Given the description of an element on the screen output the (x, y) to click on. 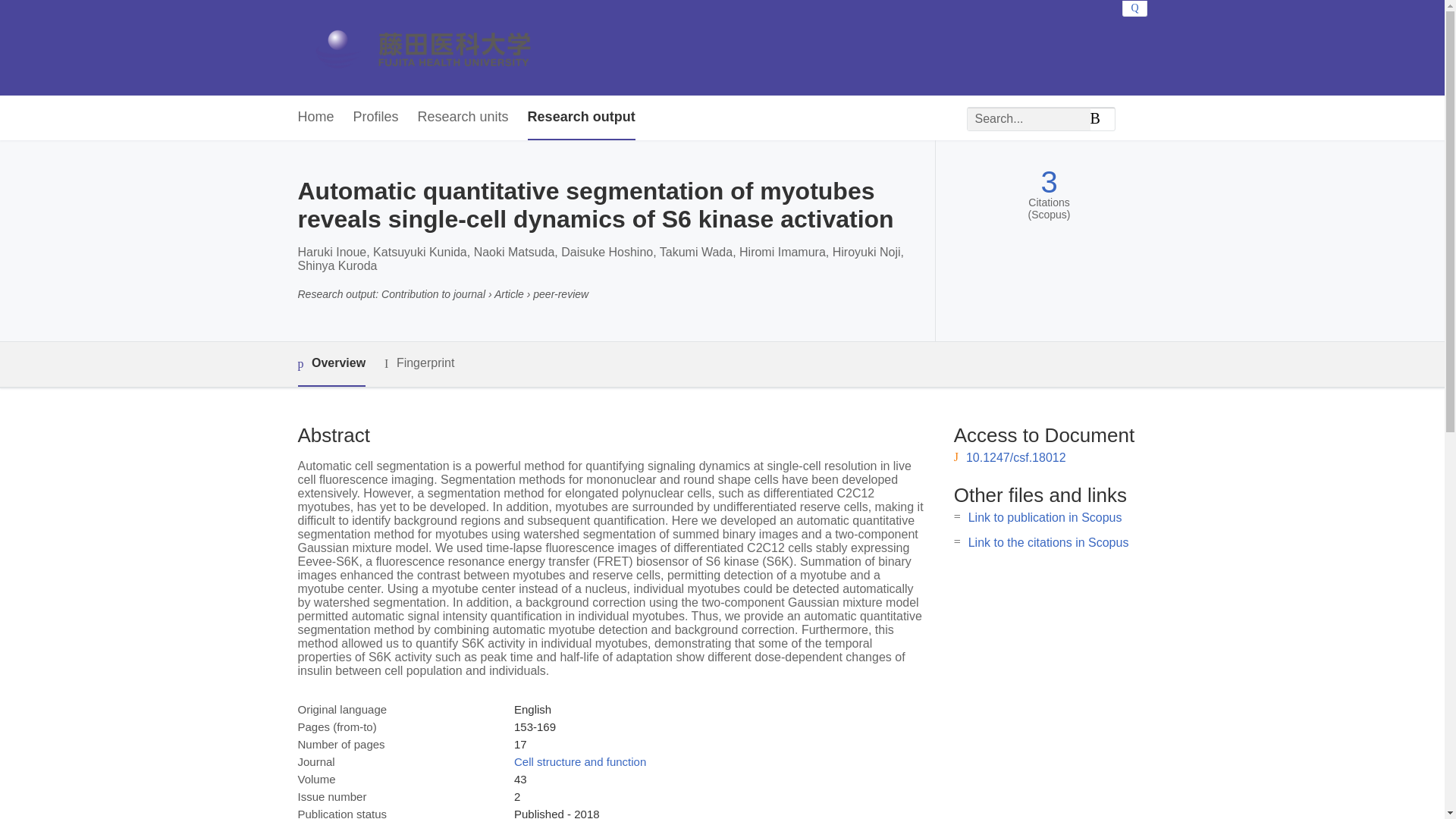
Cell structure and function (579, 761)
Overview (331, 364)
Link to publication in Scopus (1045, 517)
Research output (580, 117)
Fujita Health University Home (437, 47)
Fingerprint (419, 363)
Research units (462, 117)
Link to the citations in Scopus (1048, 542)
Profiles (375, 117)
